Given the description of an element on the screen output the (x, y) to click on. 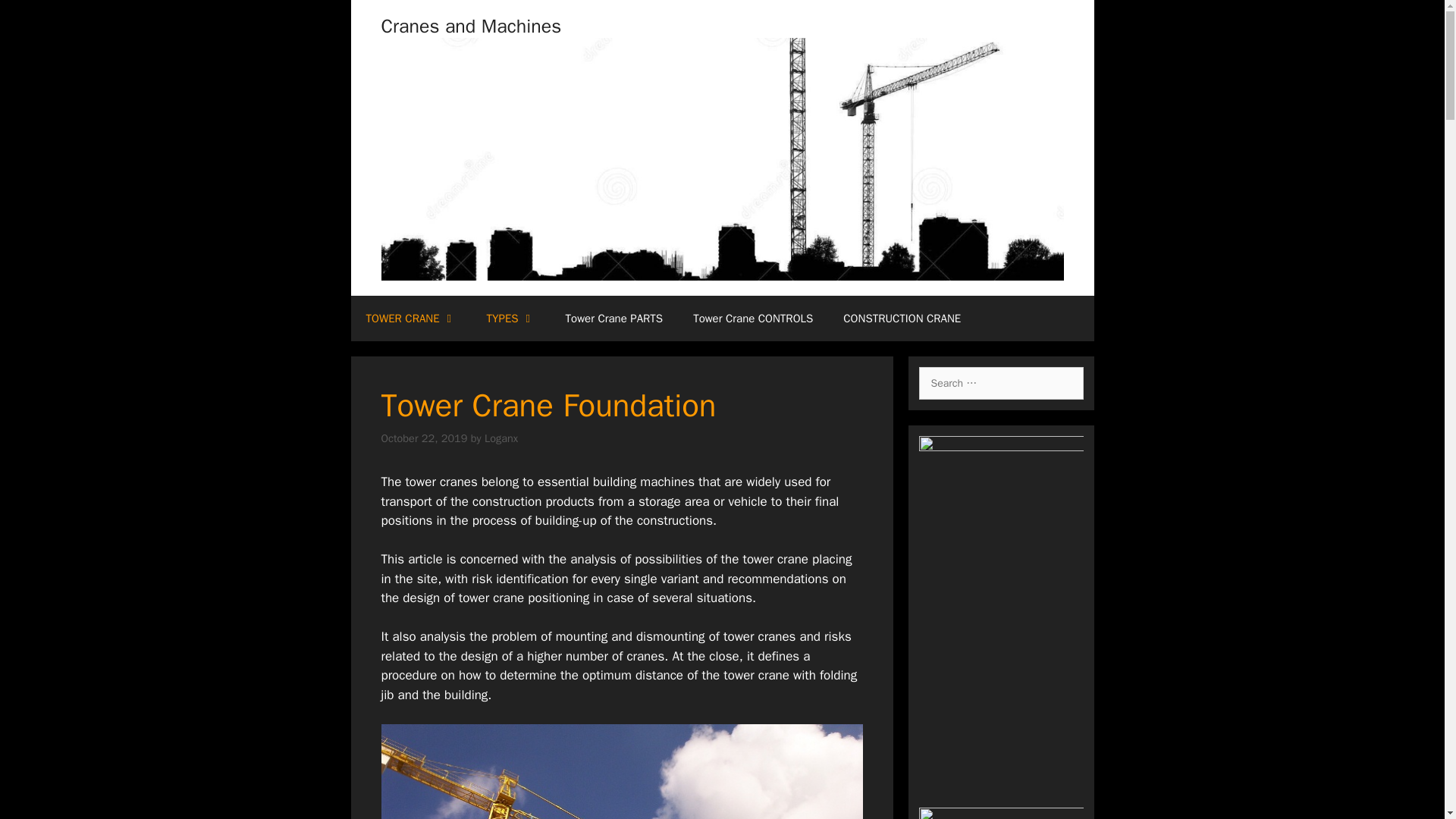
View all posts by Loganx (501, 438)
TYPES (510, 318)
Search for: (1000, 382)
Cranes and Machines (470, 25)
Loganx (501, 438)
Search (32, 16)
TOWER CRANE (410, 318)
CONSTRUCTION CRANE (901, 318)
Tower Crane CONTROLS (753, 318)
Tower Crane PARTS (614, 318)
